Given the description of an element on the screen output the (x, y) to click on. 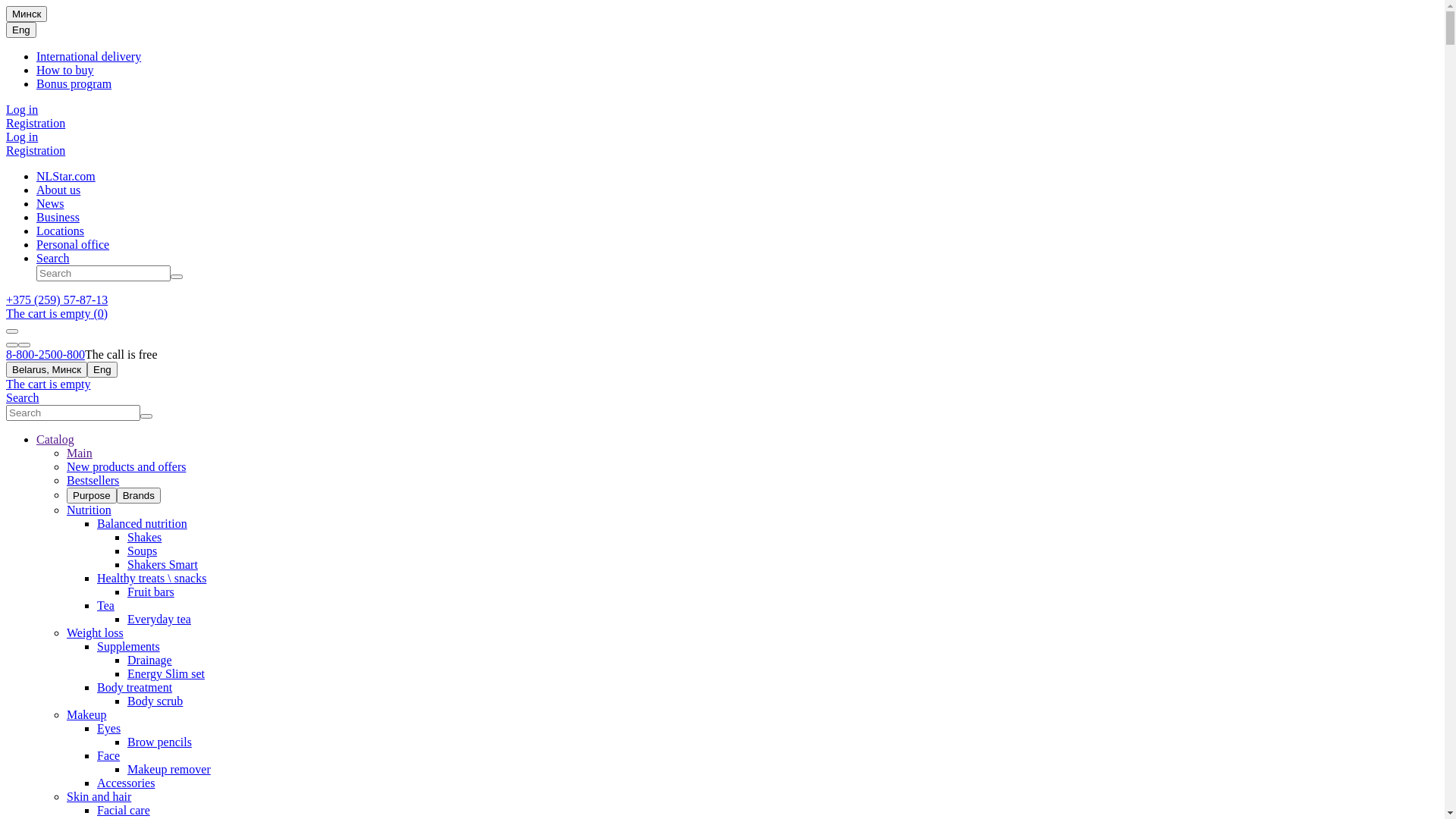
+375 (259) 57-87-13 Element type: text (56, 299)
International delivery Element type: text (88, 56)
New products and offers Element type: text (125, 466)
Eng Element type: text (21, 29)
Facial care Element type: text (123, 809)
Balanced nutrition Element type: text (142, 523)
Drainage Element type: text (149, 659)
Bestsellers Element type: text (92, 479)
Body scrub Element type: text (154, 700)
Face Element type: text (108, 755)
Makeup remover Element type: text (168, 768)
The cart is empty (0) Element type: text (56, 313)
Eng Element type: text (102, 369)
NLStar.com Element type: text (65, 175)
Log in Element type: text (21, 109)
Brow pencils Element type: text (159, 741)
Log in Element type: text (21, 136)
Bonus program Element type: text (73, 83)
Purpose Element type: text (91, 495)
Energy Slim set Element type: text (165, 673)
Nutrition Element type: text (88, 509)
Catalog Element type: text (55, 439)
Locations Element type: text (60, 230)
About us Element type: text (58, 189)
Business Element type: text (57, 216)
Weight loss Element type: text (94, 632)
Registration Element type: text (35, 150)
News Element type: text (49, 203)
Everyday tea Element type: text (159, 618)
Brands Element type: text (138, 495)
Supplements Element type: text (128, 646)
Tea Element type: text (105, 605)
Makeup Element type: text (86, 714)
Personal office Element type: text (72, 244)
Soups Element type: text (141, 550)
Fruit bars Element type: text (150, 591)
Registration Element type: text (35, 122)
8-800-2500-800 Element type: text (45, 354)
Shakes Element type: text (144, 536)
Skin and hair Element type: text (98, 796)
Eyes Element type: text (108, 727)
Search Element type: text (52, 257)
Main Element type: text (79, 452)
Shakers Smart Element type: text (162, 564)
The cart is empty Element type: text (48, 383)
Healthy treats \ snacks Element type: text (151, 577)
How to buy Element type: text (65, 69)
Search Element type: text (22, 397)
Body treatment Element type: text (134, 686)
Accessories Element type: text (125, 782)
